Given the description of an element on the screen output the (x, y) to click on. 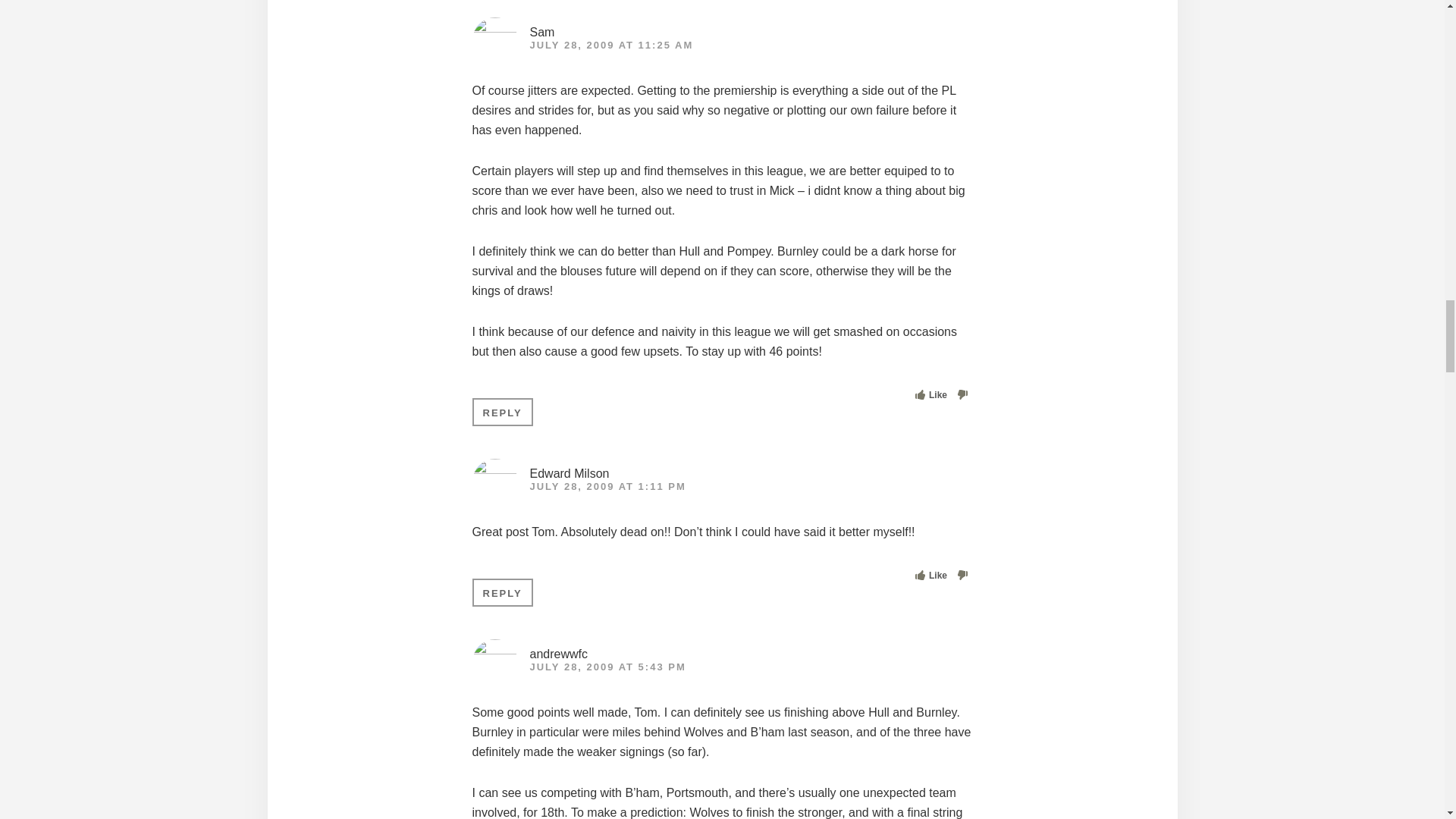
JULY 28, 2009 AT 1:11 PM (607, 486)
REPLY (501, 411)
JULY 28, 2009 AT 5:43 PM (607, 666)
JULY 28, 2009 AT 11:25 AM (611, 44)
REPLY (501, 592)
